Given the description of an element on the screen output the (x, y) to click on. 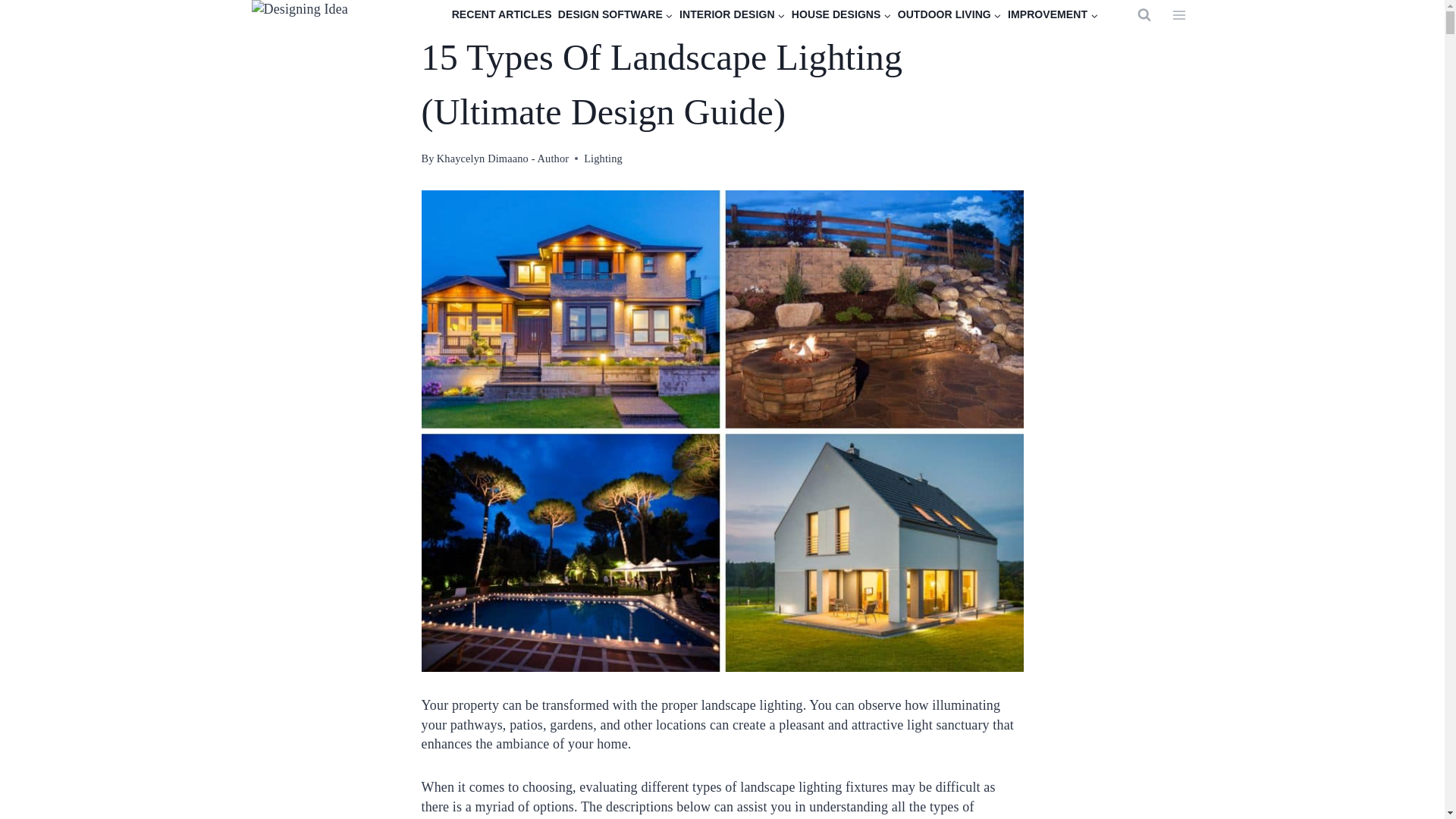
DESIGN SOFTWARE (615, 14)
IMPROVEMENT (1052, 14)
HOUSE DESIGNS (842, 14)
OUTDOOR LIVING (949, 14)
INTERIOR DESIGN (733, 14)
RECENT ARTICLES (501, 14)
